Given the description of an element on the screen output the (x, y) to click on. 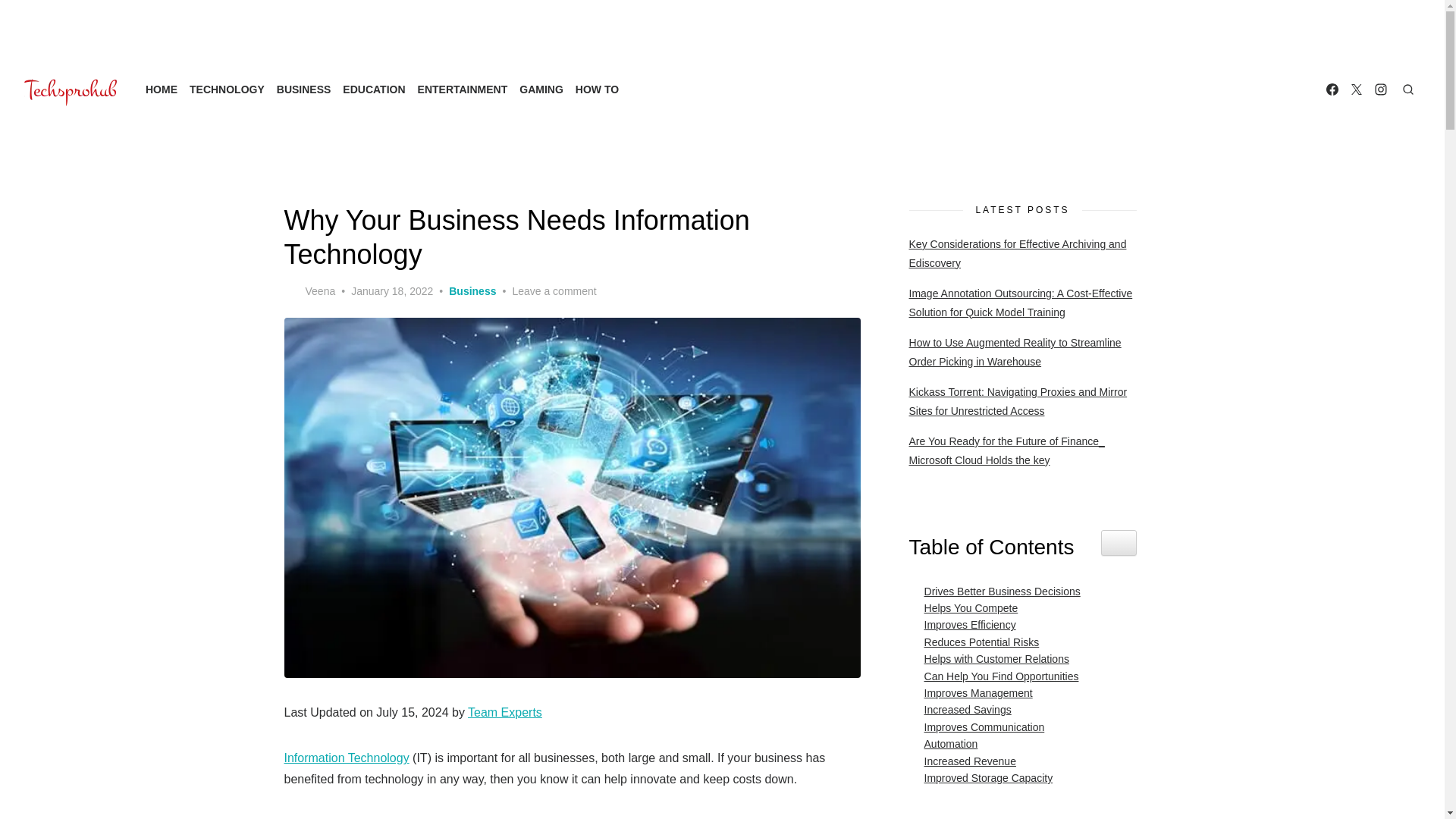
BUSINESS (303, 88)
Helps with Customer Relations (992, 658)
Information Technology (346, 757)
Helps You Compete (967, 607)
EDUCATION (373, 88)
HOME (161, 88)
Leave a comment (553, 291)
HOW TO (596, 88)
TECHNOLOGY (226, 88)
Can Help You Find Opportunities (997, 676)
Business (472, 291)
Team Experts (504, 712)
ENTERTAINMENT (462, 88)
January 18, 2022 (391, 291)
GAMING (541, 88)
